Given the description of an element on the screen output the (x, y) to click on. 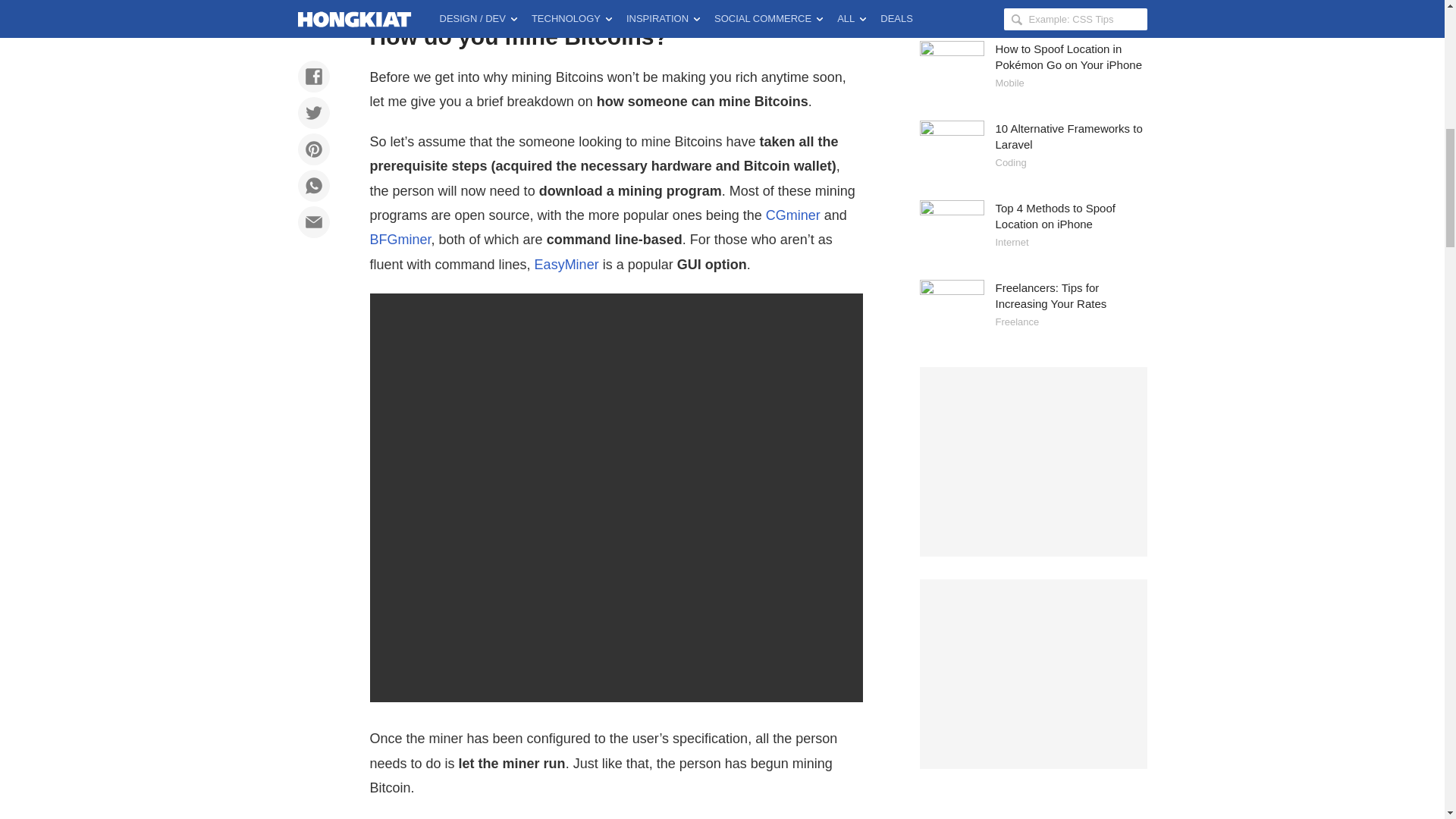
CGminer (793, 215)
EasyMiner (566, 264)
BFGminer (399, 239)
